Given the description of an element on the screen output the (x, y) to click on. 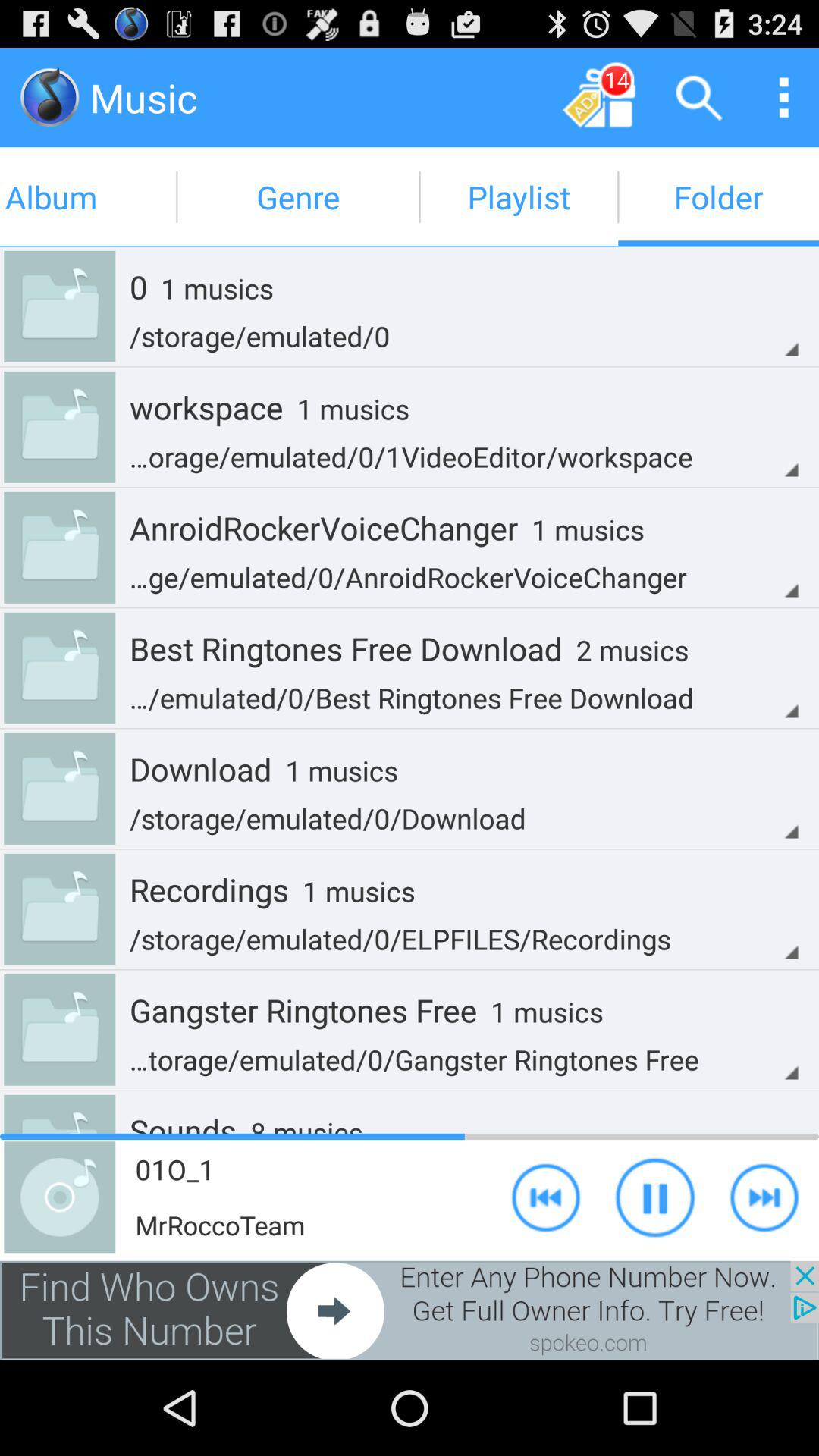
go to play option (764, 1196)
